Given the description of an element on the screen output the (x, y) to click on. 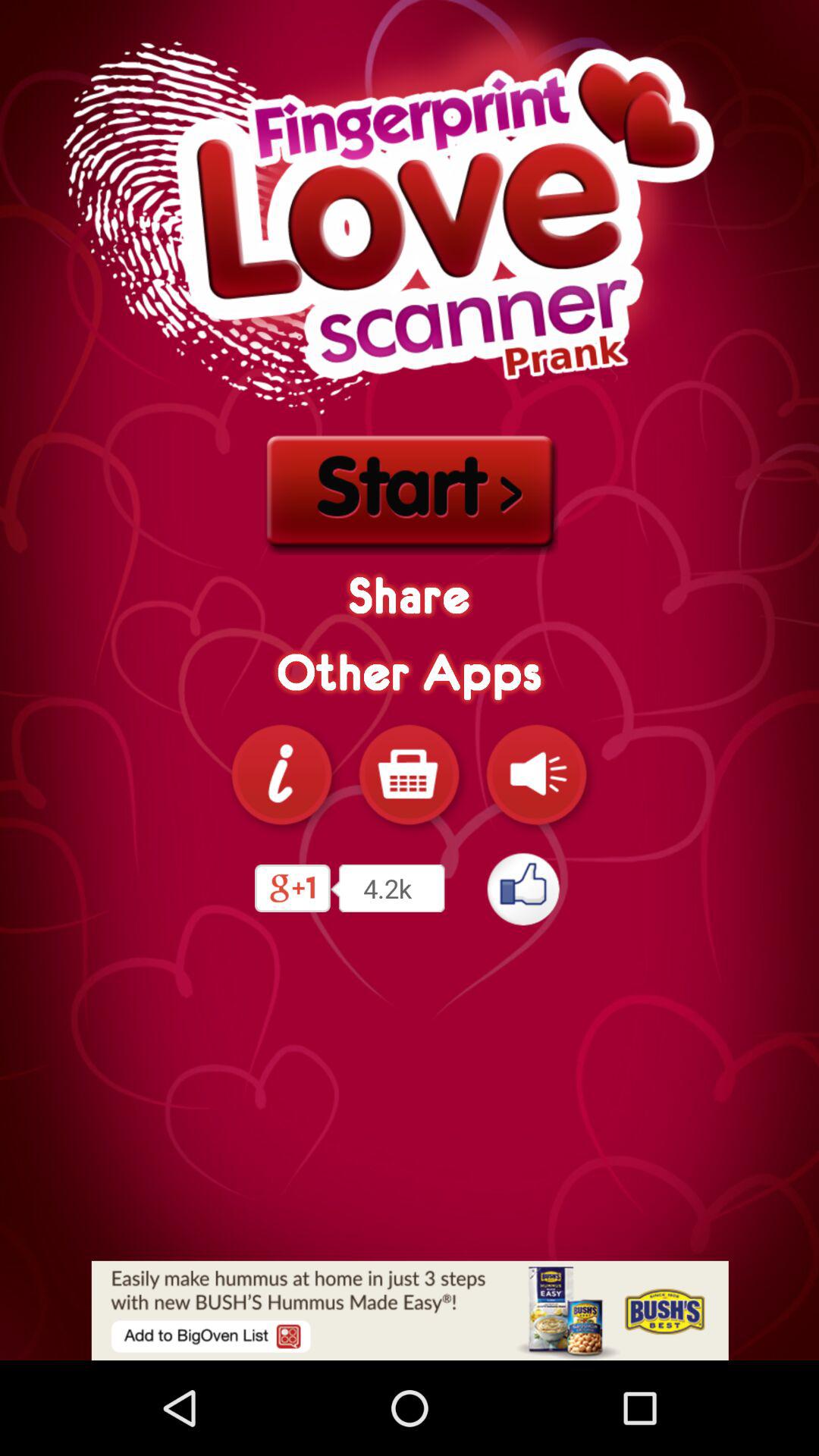
shows sound icon (536, 774)
